Given the description of an element on the screen output the (x, y) to click on. 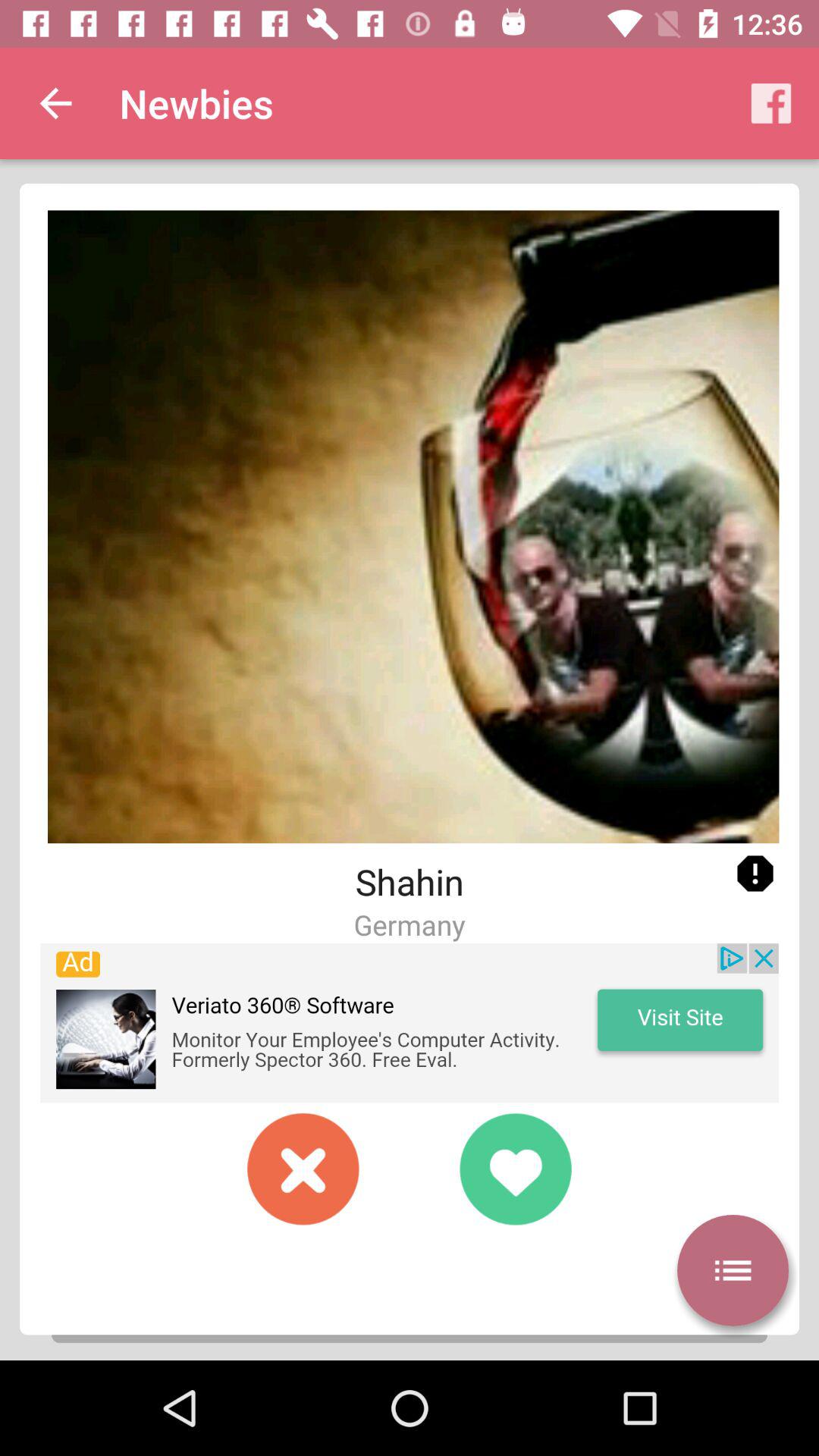
menu (733, 1270)
